Given the description of an element on the screen output the (x, y) to click on. 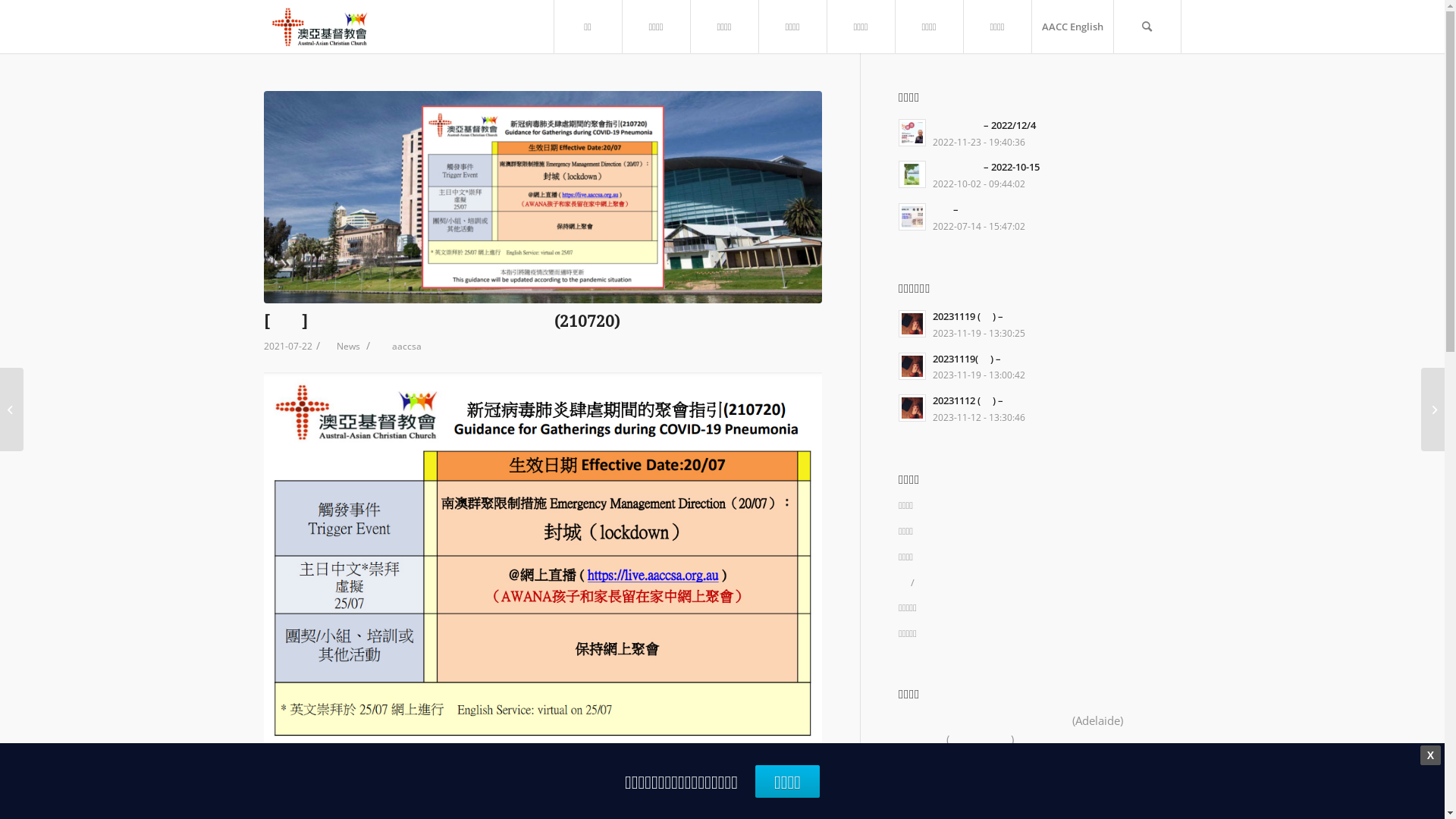
AACC English Element type: text (1072, 26)
covid19-notice-210720-updated Element type: hover (542, 197)
News Element type: text (348, 345)
aaccsa Element type: text (405, 345)
